Given the description of an element on the screen output the (x, y) to click on. 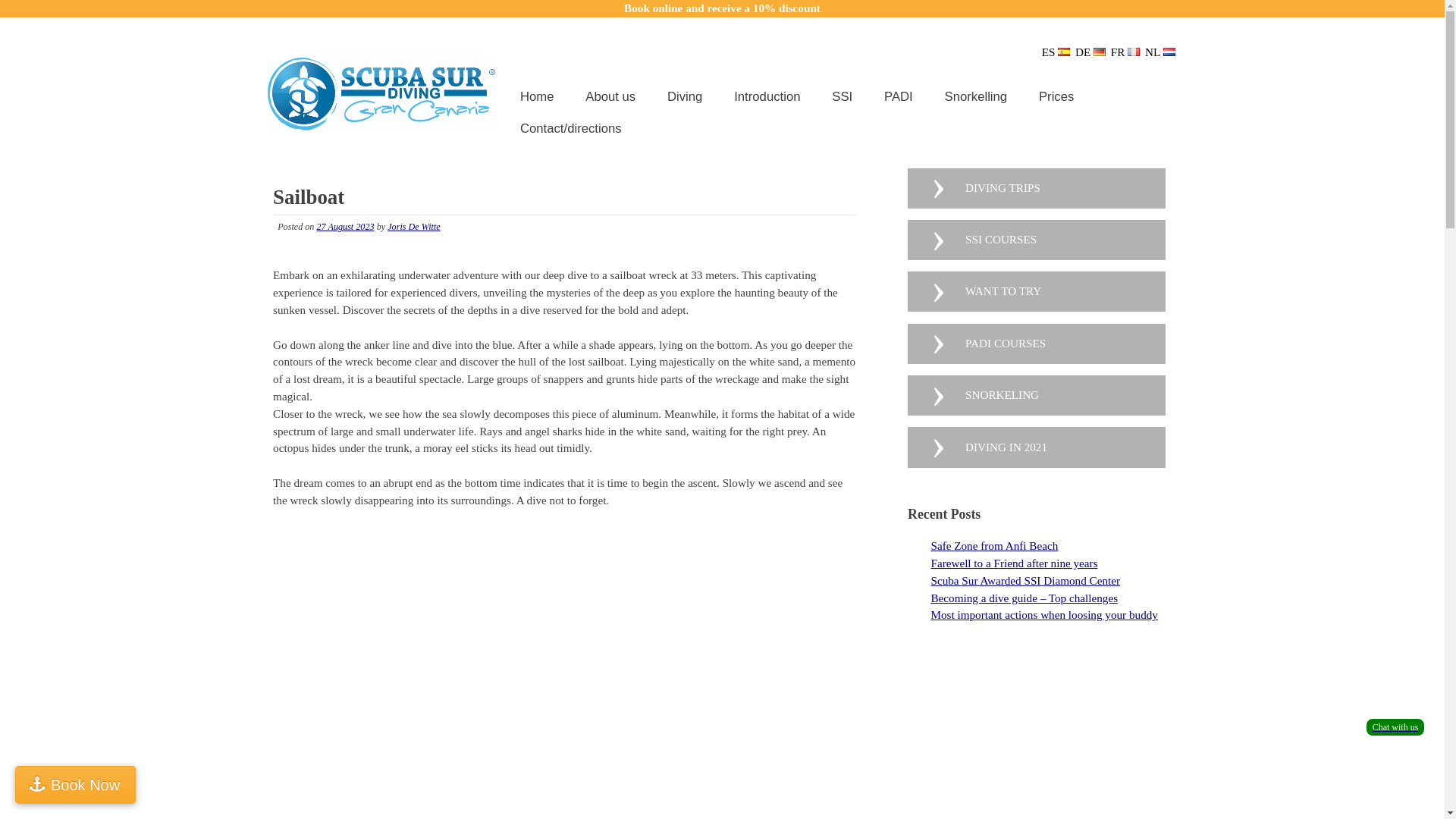
About us (608, 96)
Home (535, 96)
FR (1125, 51)
Snorkelling (973, 96)
PADI (896, 96)
SSI COURSES (1036, 240)
Prices (1054, 96)
Introduction (764, 96)
Safe Zone from Anfi Beach (994, 545)
27 August 2023 (345, 226)
